Given the description of an element on the screen output the (x, y) to click on. 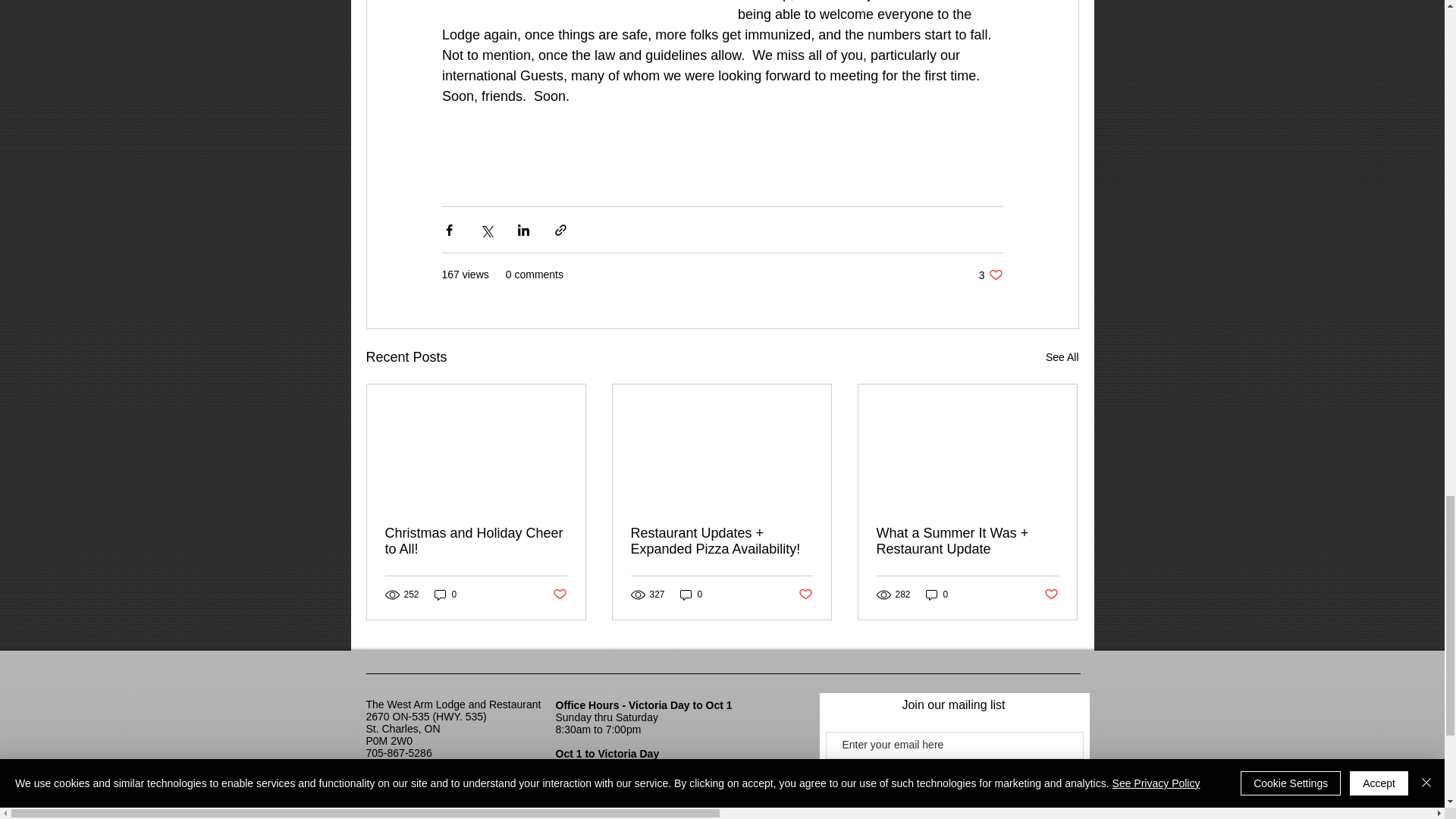
Post not marked as liked (1050, 594)
Post not marked as liked (804, 594)
0 (691, 594)
0 (937, 594)
Subscribe Now (954, 775)
Christmas and Holiday Cheer to All! (990, 274)
Post not marked as liked (476, 541)
0 (558, 594)
See All (445, 594)
